Given the description of an element on the screen output the (x, y) to click on. 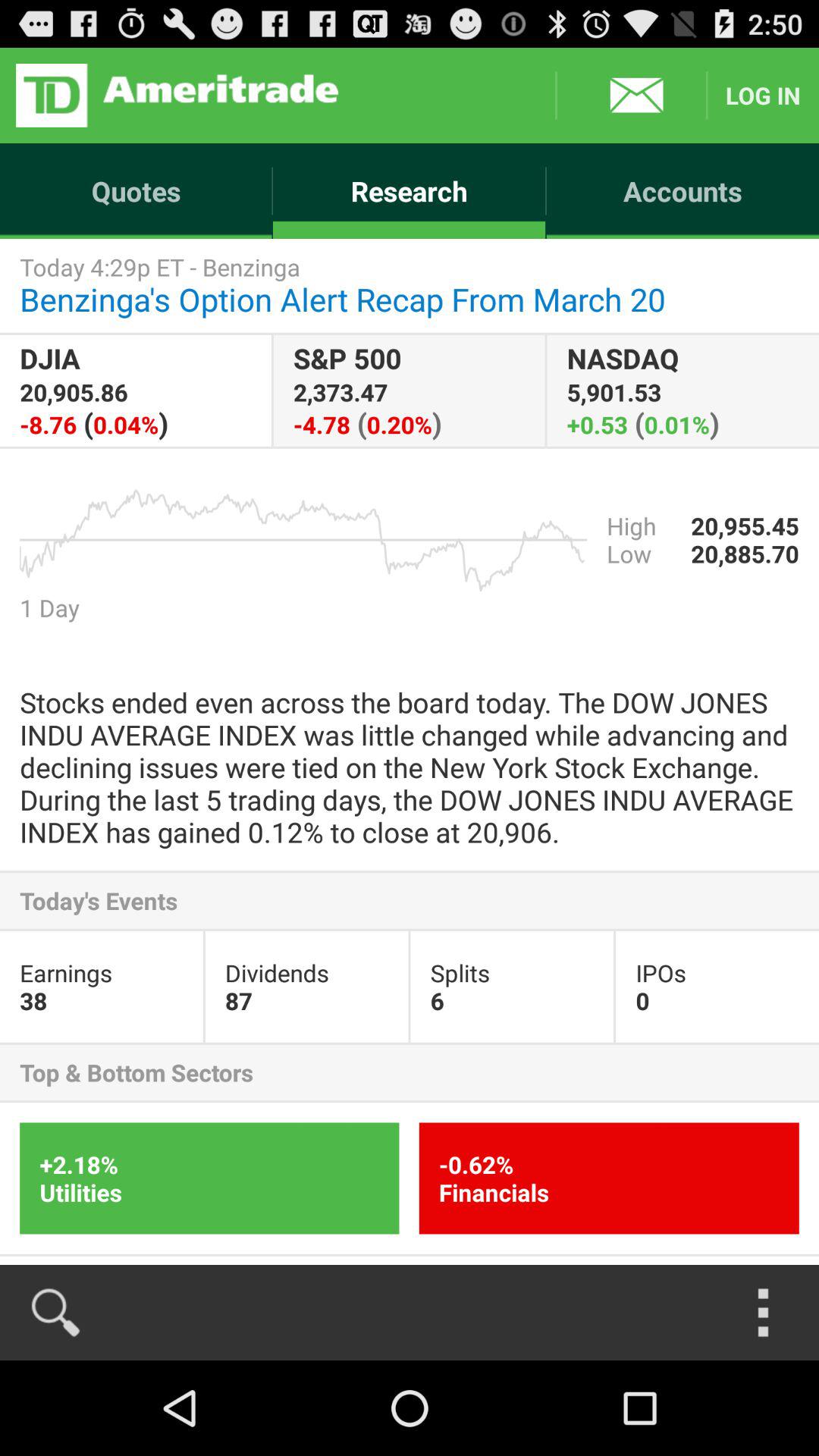
open messages (631, 95)
